Given the description of an element on the screen output the (x, y) to click on. 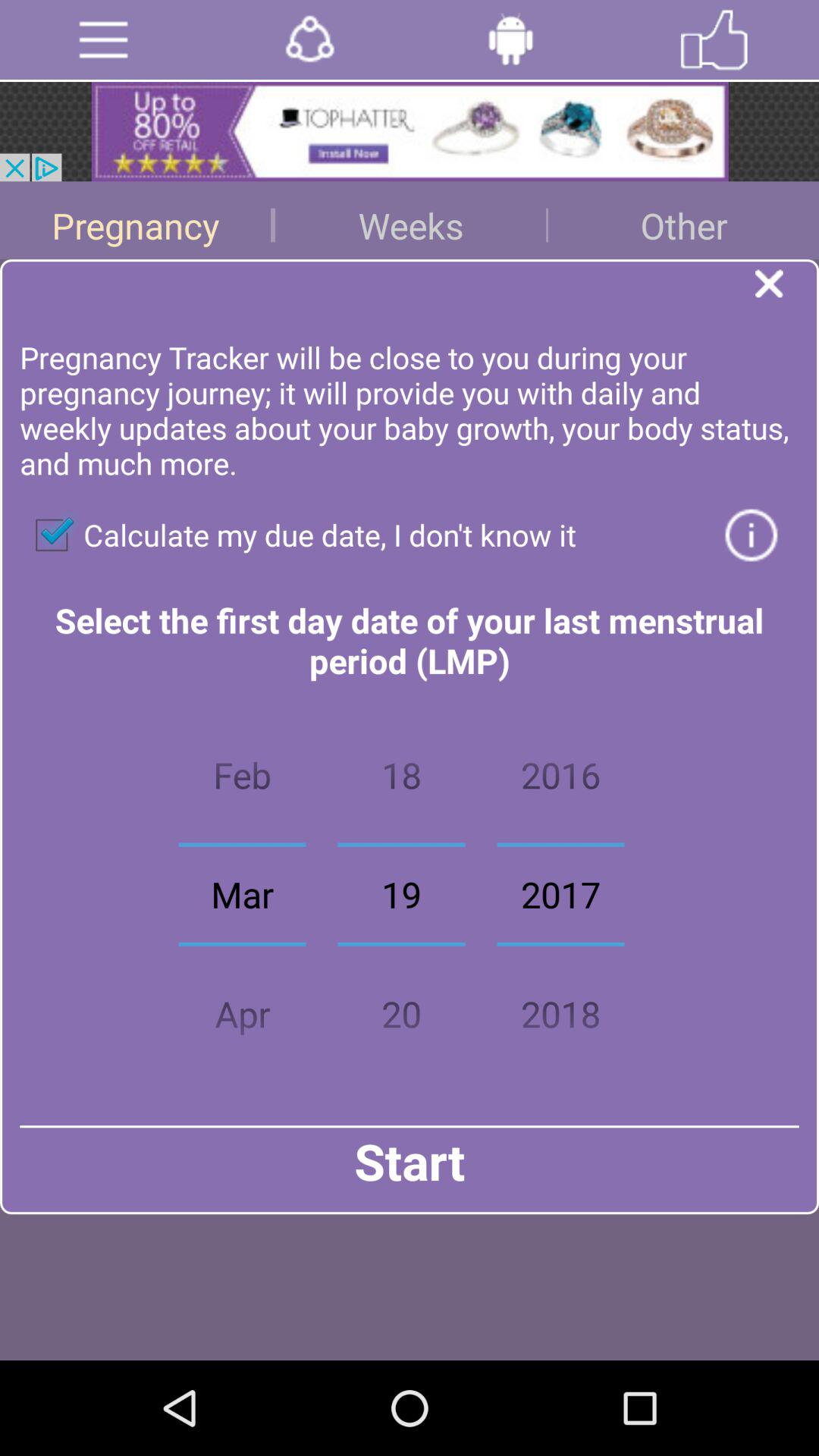
go to advertisement (309, 39)
